Given the description of an element on the screen output the (x, y) to click on. 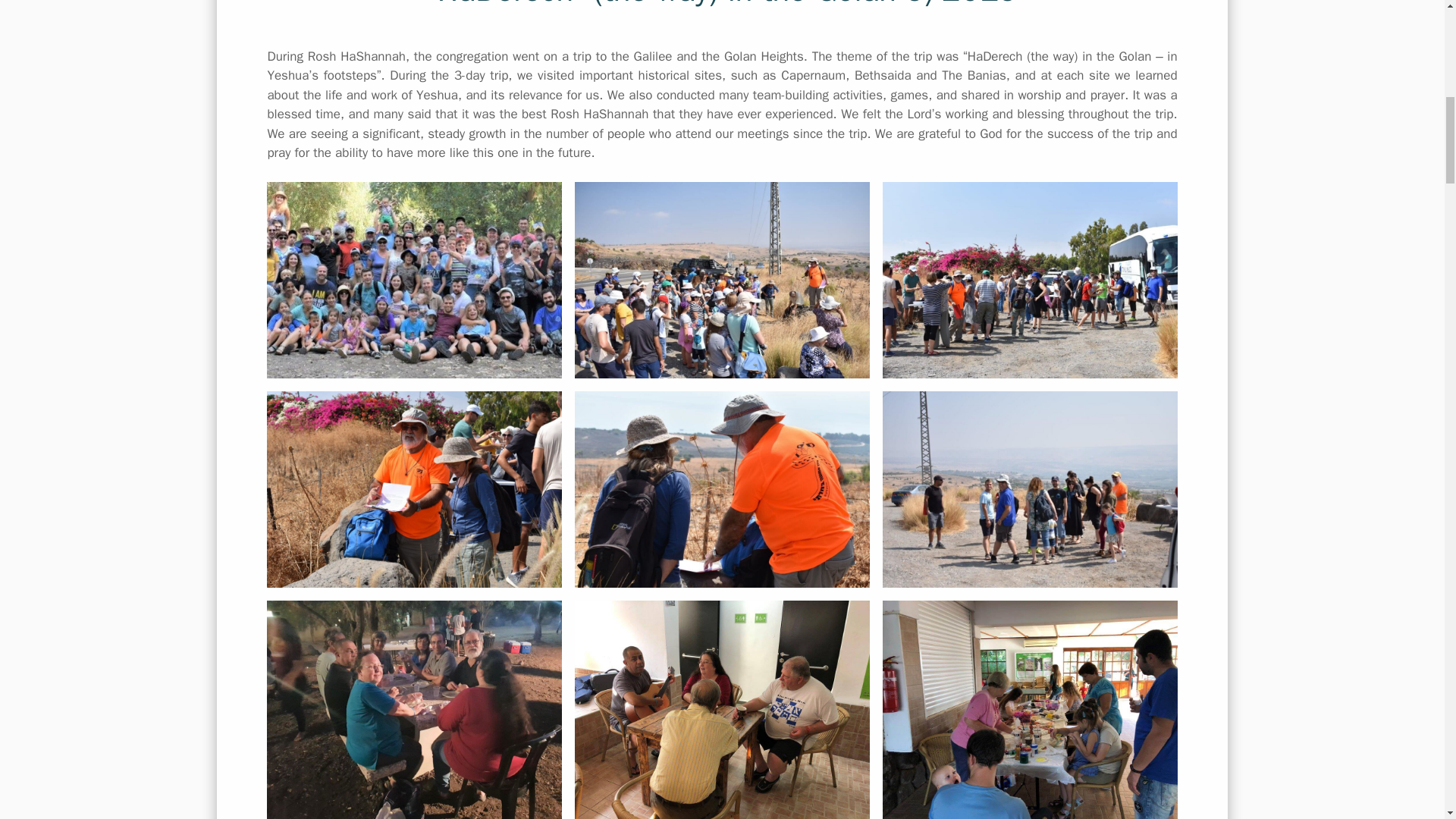
Scroll back to top (1406, 720)
